Given the description of an element on the screen output the (x, y) to click on. 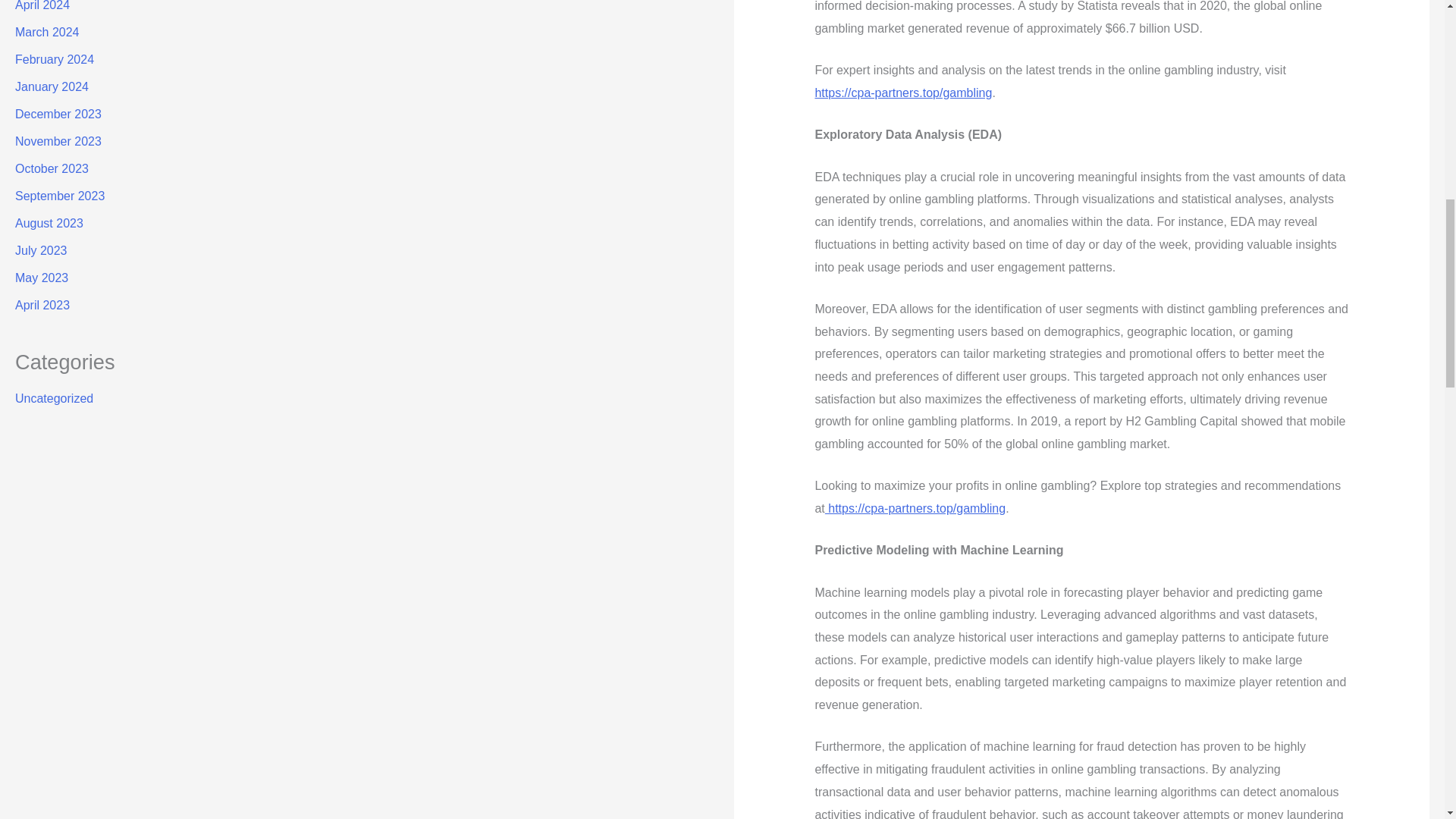
January 2024 (51, 86)
February 2024 (54, 59)
November 2023 (57, 141)
April 2024 (41, 5)
September 2023 (59, 195)
March 2024 (47, 31)
August 2023 (48, 223)
October 2023 (51, 168)
December 2023 (57, 113)
